Given the description of an element on the screen output the (x, y) to click on. 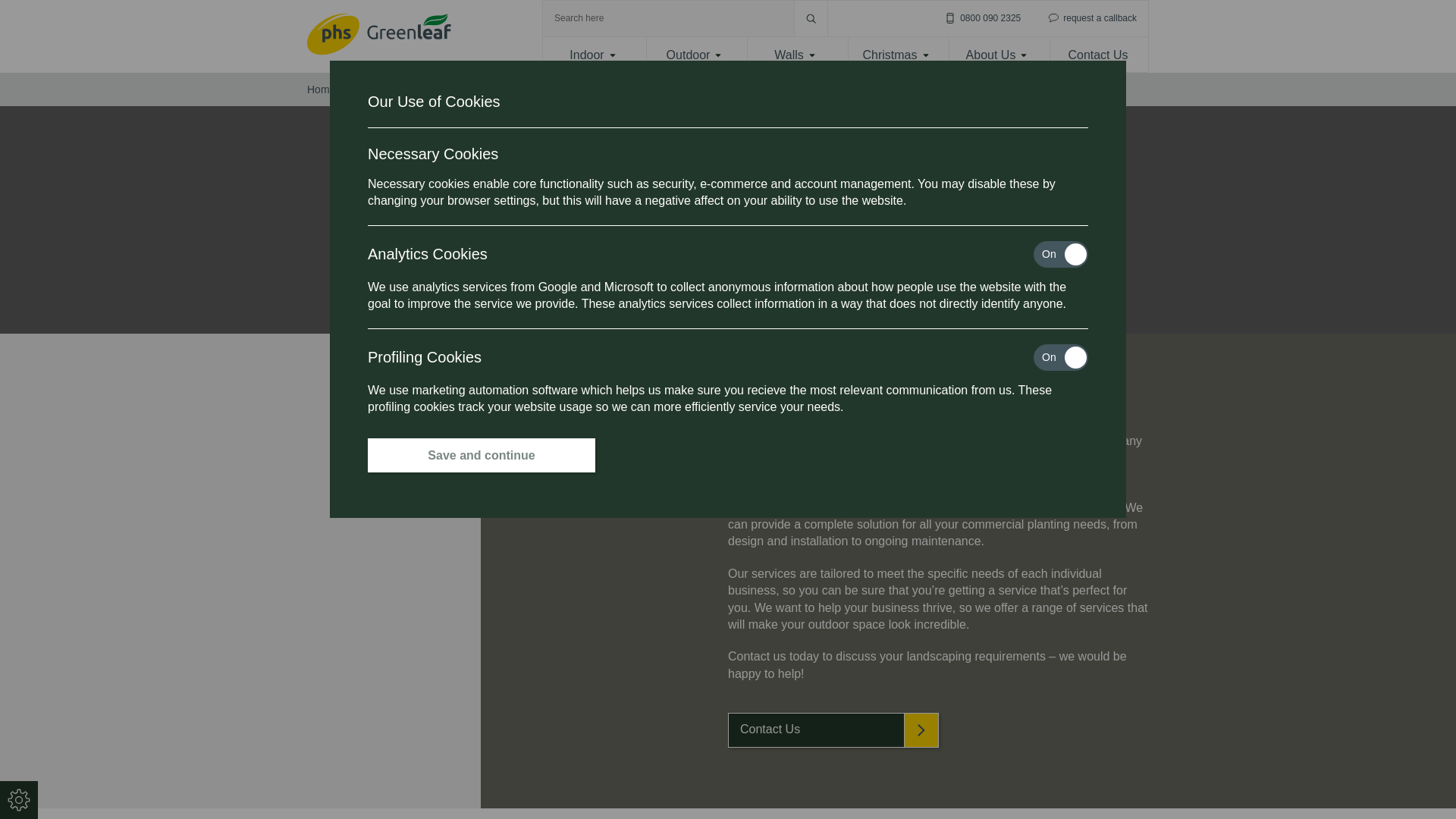
Christmas (895, 54)
request a callback (1090, 18)
Walls (794, 54)
Contact Us (1097, 54)
Indoor (593, 54)
Return to the homepage (379, 36)
Submit search (810, 18)
0800 090 2325 (980, 18)
About Us (997, 54)
